Given the description of an element on the screen output the (x, y) to click on. 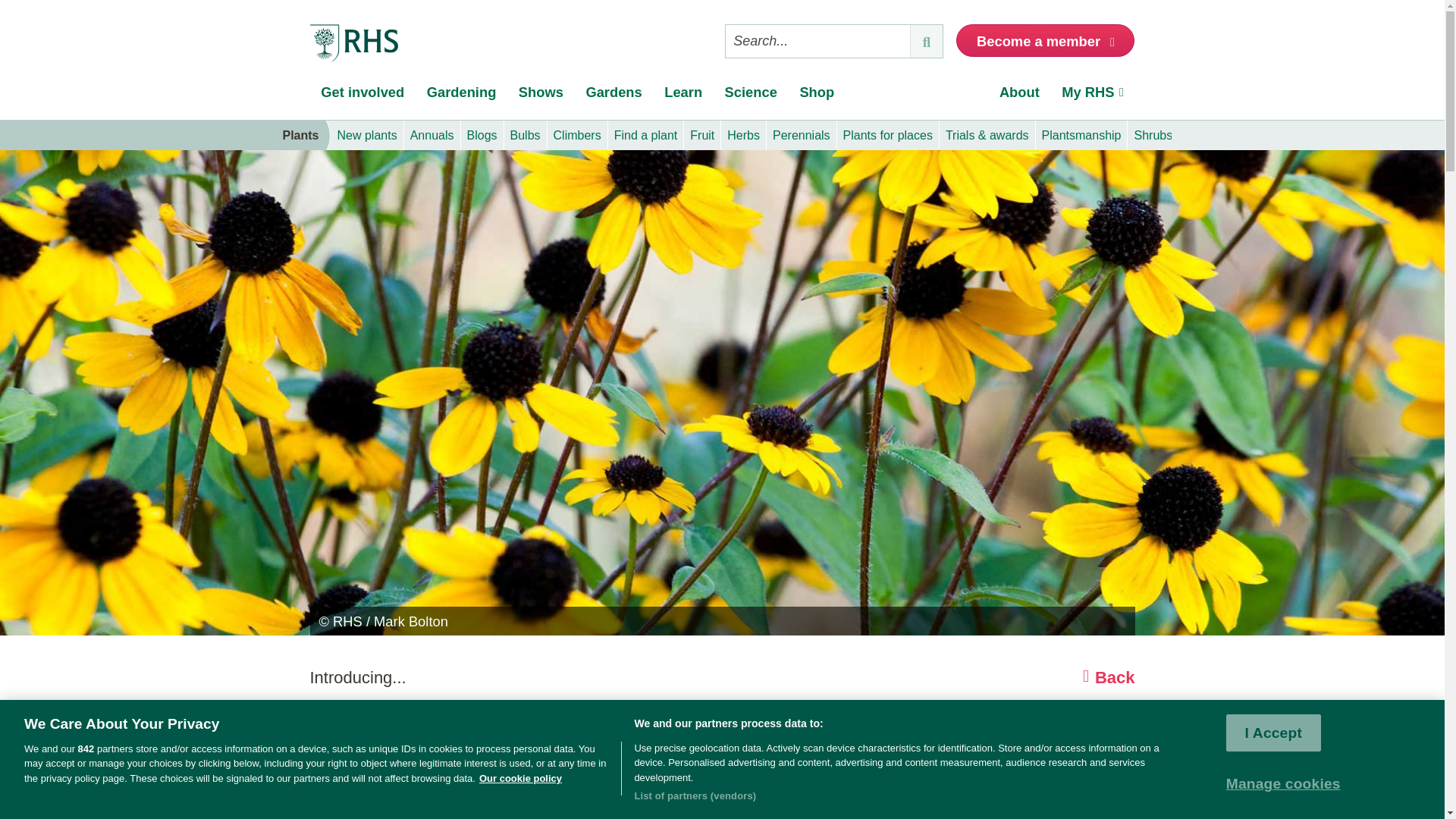
Shop (817, 96)
Submit (926, 41)
My RHS (1093, 96)
Home (353, 43)
Science (751, 96)
Become a member (1045, 40)
Gardens (614, 96)
About (1018, 96)
Gardening (460, 96)
Get involved (361, 96)
Shows (540, 96)
Learn (682, 96)
